Given the description of an element on the screen output the (x, y) to click on. 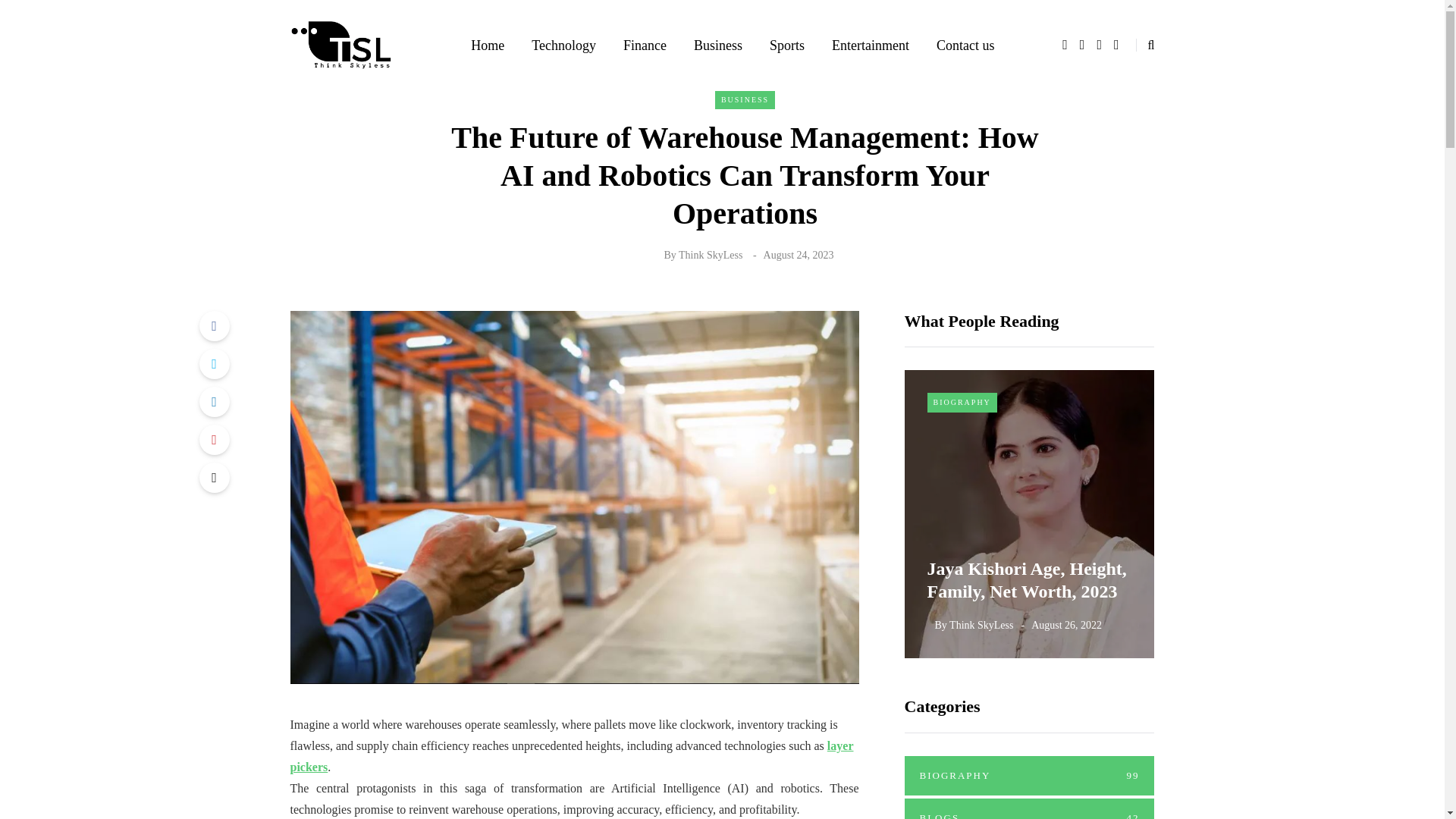
Share with Facebook (213, 326)
Share with LinkedIn (213, 401)
Think SkyLess (710, 254)
Share by Email (213, 477)
layer pickers (571, 756)
Contact us (966, 45)
BUSINESS (744, 99)
Posts by Think SkyLess (710, 254)
Tweet this (213, 363)
Business (717, 45)
Technology (564, 45)
Sports (786, 45)
Home (487, 45)
Entertainment (870, 45)
Search (43, 15)
